Given the description of an element on the screen output the (x, y) to click on. 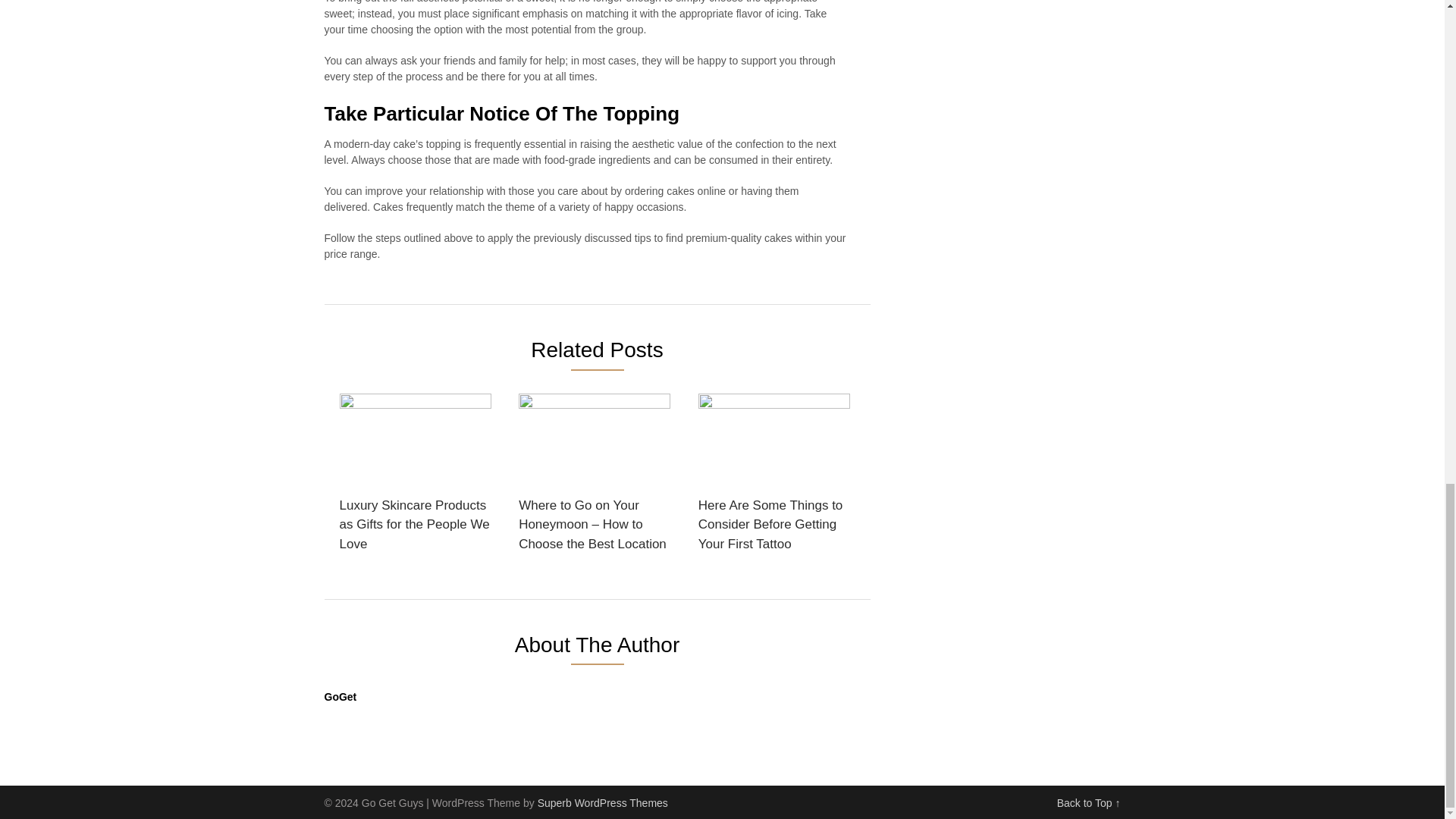
Luxury Skincare Products as Gifts for the People We Love (415, 477)
Luxury Skincare Products as Gifts for the People We Love (415, 477)
Superb WordPress Themes (602, 802)
